Given the description of an element on the screen output the (x, y) to click on. 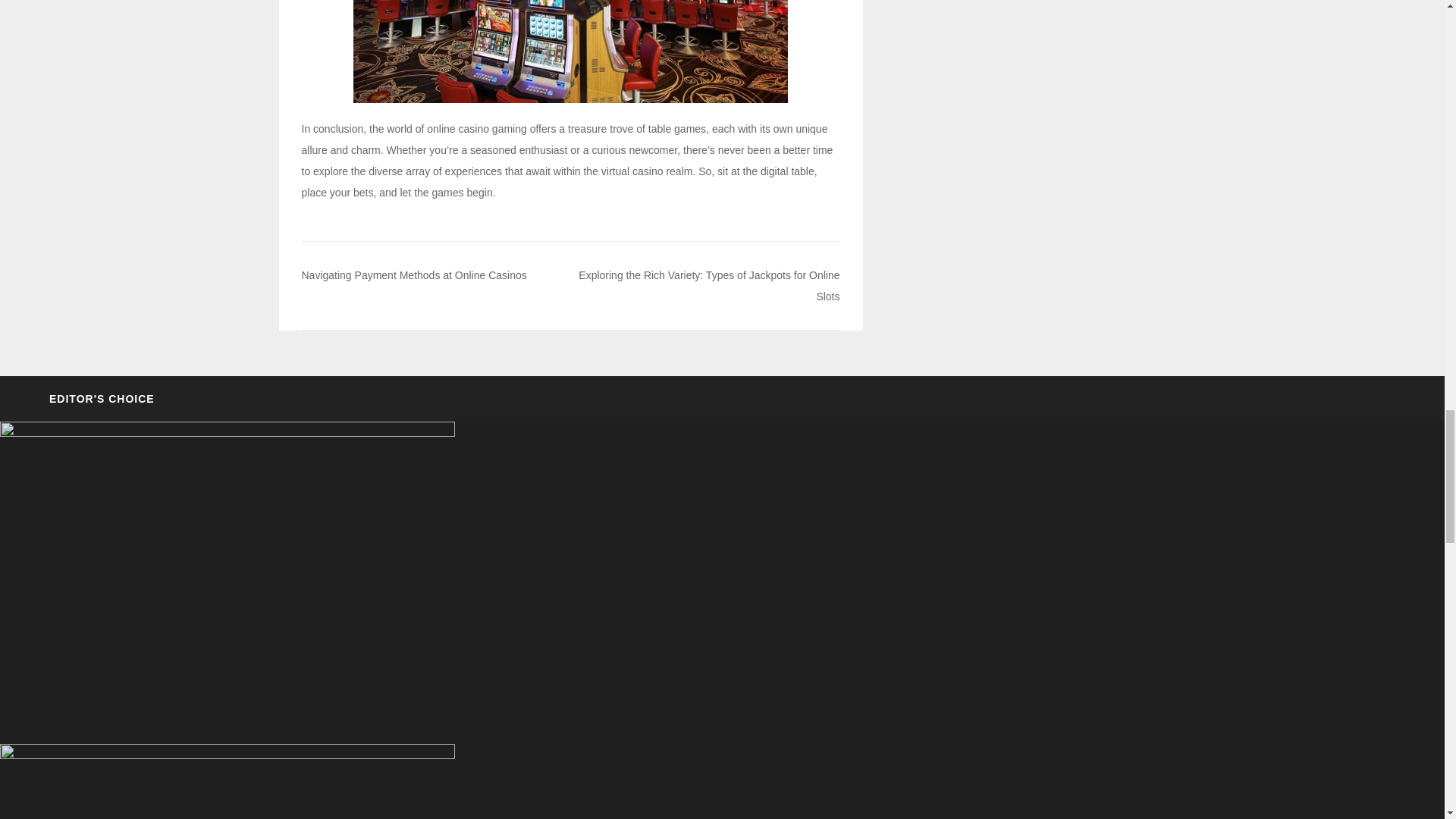
Navigating Payment Methods at Online Casinos (414, 275)
